Given the description of an element on the screen output the (x, y) to click on. 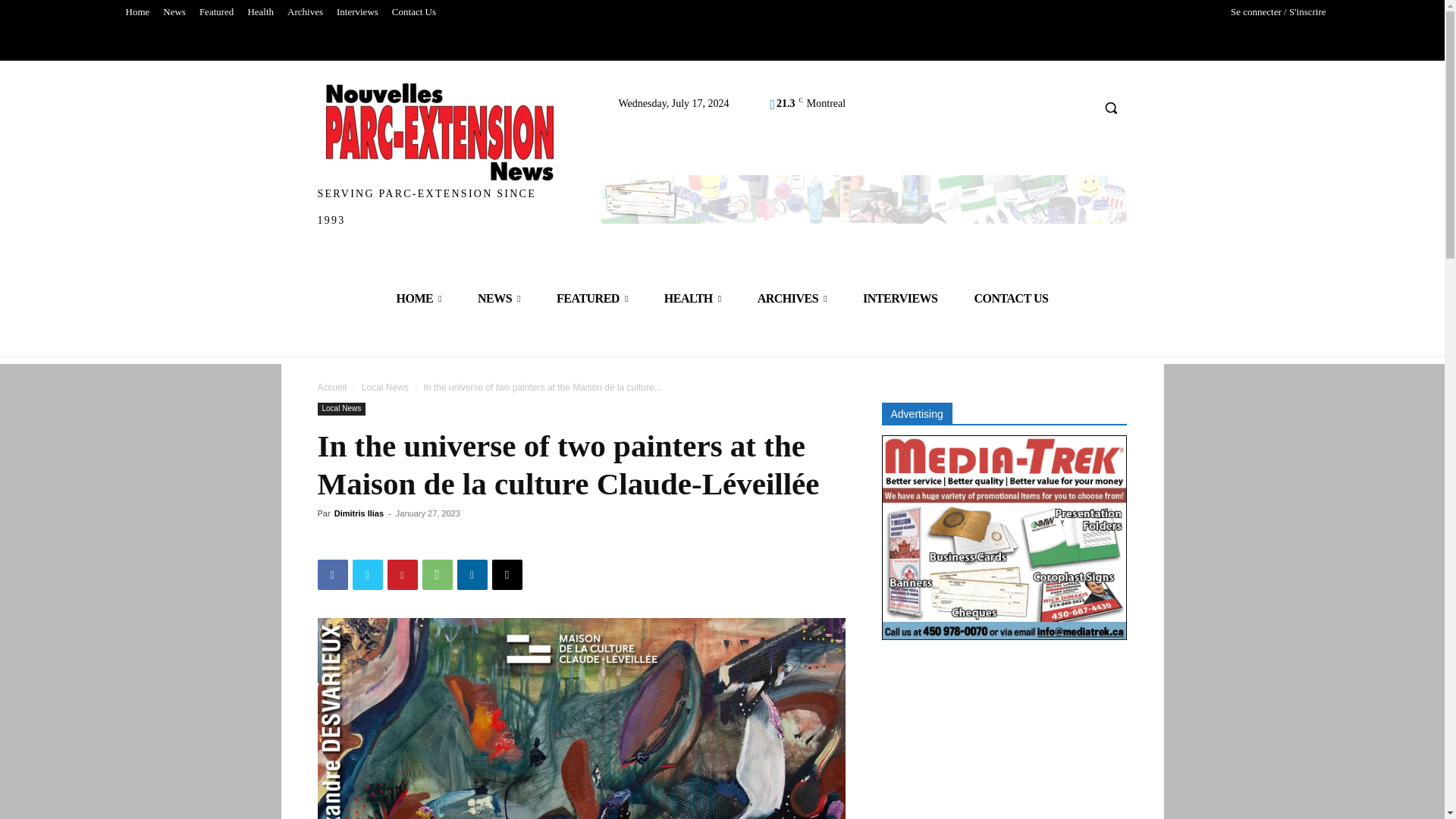
Featured (216, 12)
Archives (305, 12)
Health (260, 12)
Logo of Parc-Extension News (439, 158)
Contact Us (413, 12)
Interviews (357, 12)
HOME (418, 298)
News (173, 12)
Logo of Parc-Extension News (439, 131)
Home (136, 12)
SERVING PARC-EXTENSION SINCE 1993 (439, 158)
